Given the description of an element on the screen output the (x, y) to click on. 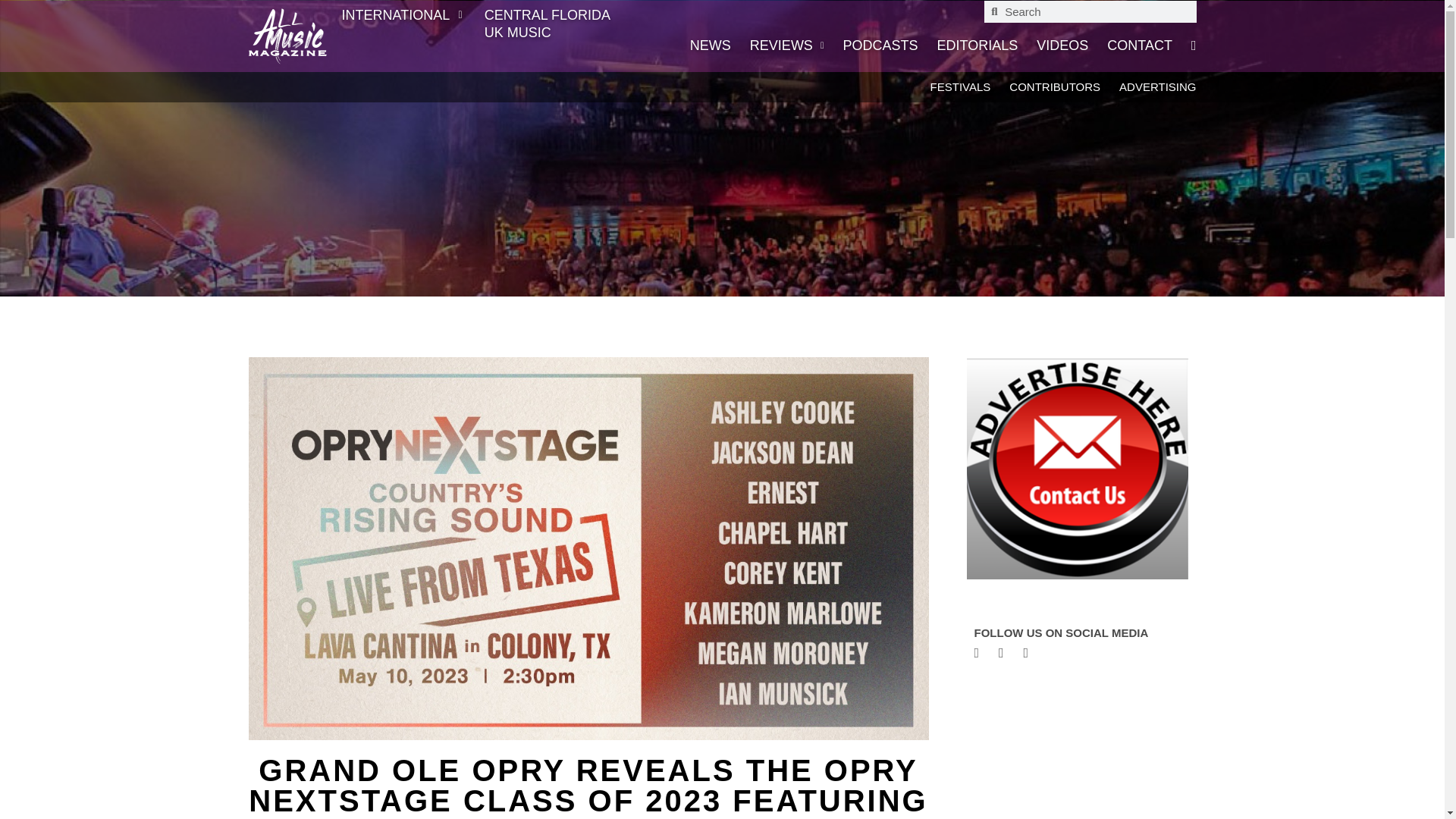
VIDEOS (1061, 45)
CONTACT (1139, 45)
INTERNATIONAL (404, 15)
PODCASTS (880, 45)
CENTRAL FLORIDA (549, 15)
UK MUSIC (549, 32)
REVIEWS (786, 45)
ADVERTISING (1157, 87)
CONTRIBUTORS (1054, 87)
NEWS (710, 45)
EDITORIALS (977, 45)
FESTIVALS (960, 87)
